Given the description of an element on the screen output the (x, y) to click on. 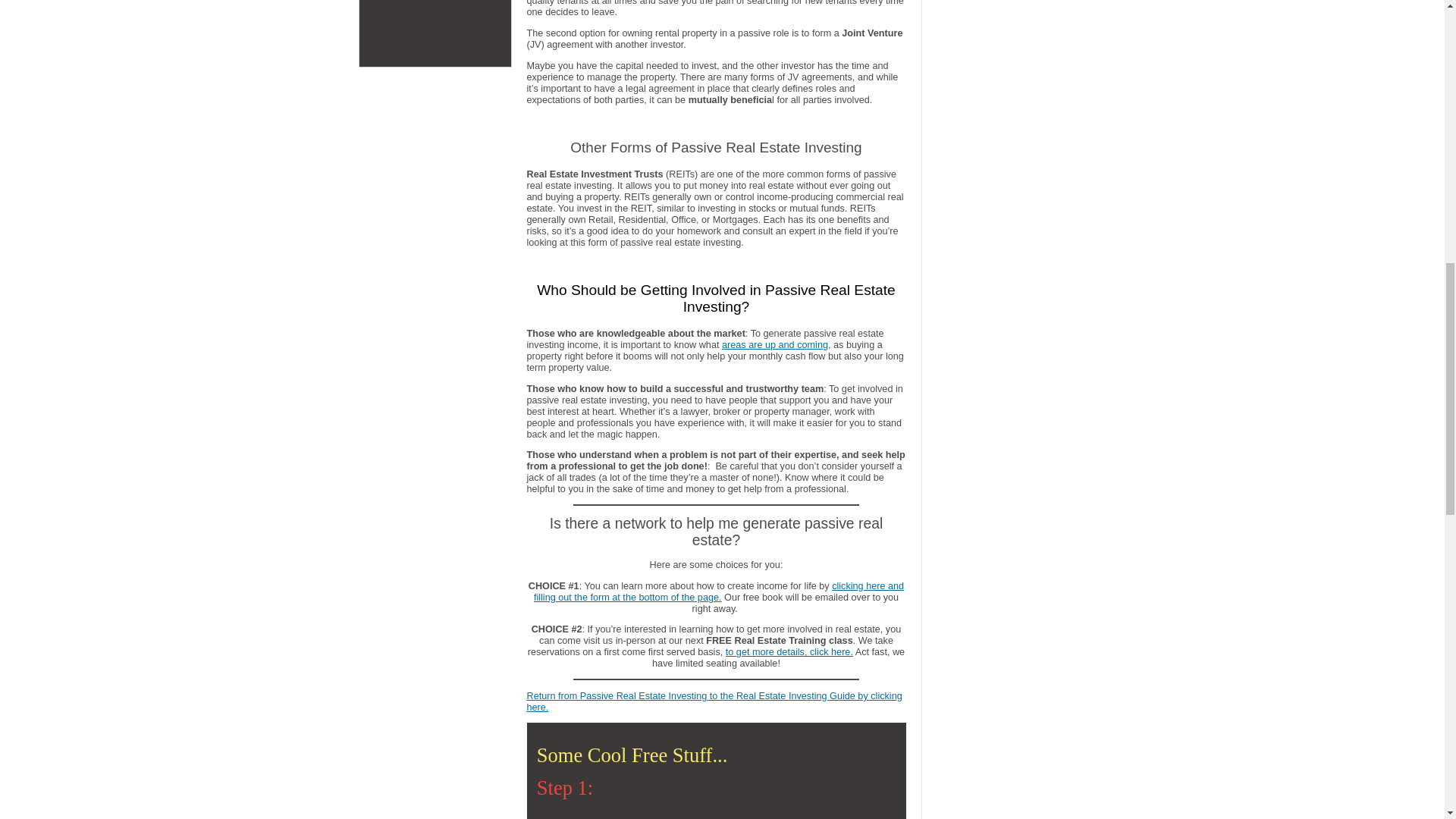
areas are up and coming (775, 344)
to get more details, click here. (789, 652)
